Given the description of an element on the screen output the (x, y) to click on. 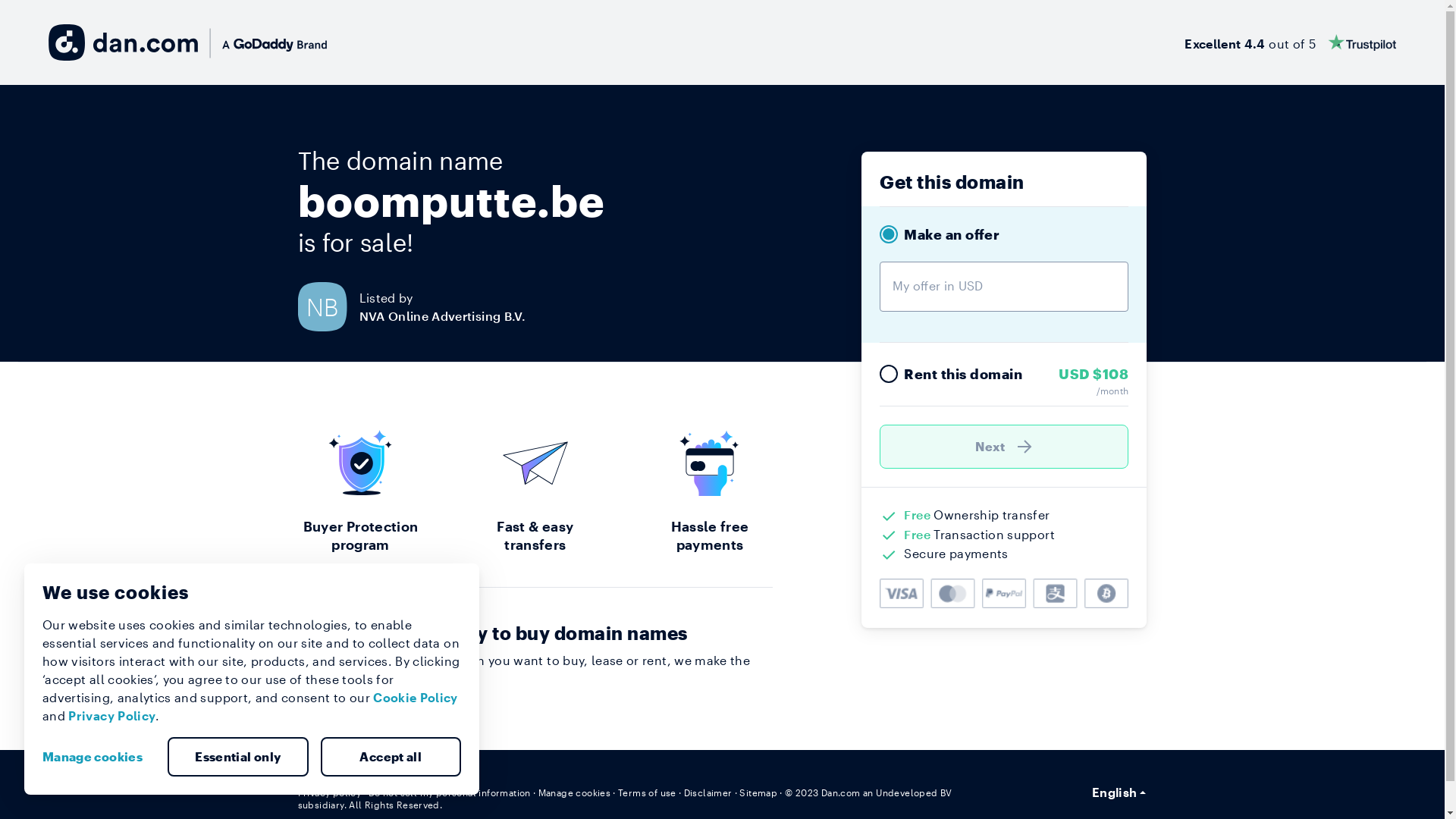
Manage cookies Element type: text (574, 792)
Do not sell my personal information Element type: text (449, 792)
Accept all Element type: text (390, 756)
Next
) Element type: text (1003, 446)
Privacy policy Element type: text (328, 792)
Essential only Element type: text (237, 756)
Privacy Policy Element type: text (111, 715)
Terms of use Element type: text (647, 792)
Manage cookies Element type: text (98, 756)
Sitemap Element type: text (758, 792)
Excellent 4.4 out of 5 Element type: text (1290, 42)
English Element type: text (1119, 792)
Cookie Policy Element type: text (415, 697)
Disclaimer Element type: text (708, 792)
